Given the description of an element on the screen output the (x, y) to click on. 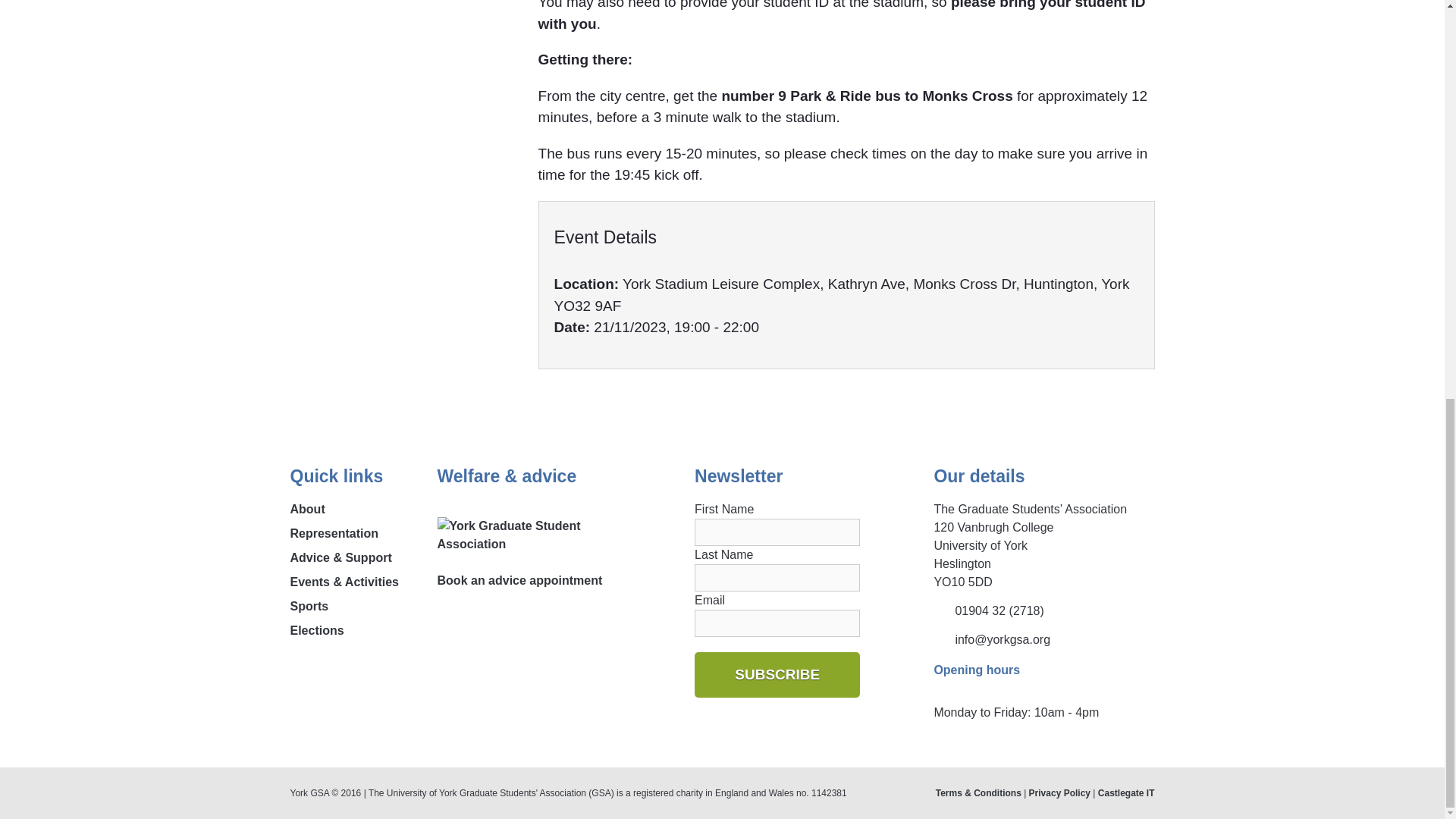
Subscribe (777, 674)
